Given the description of an element on the screen output the (x, y) to click on. 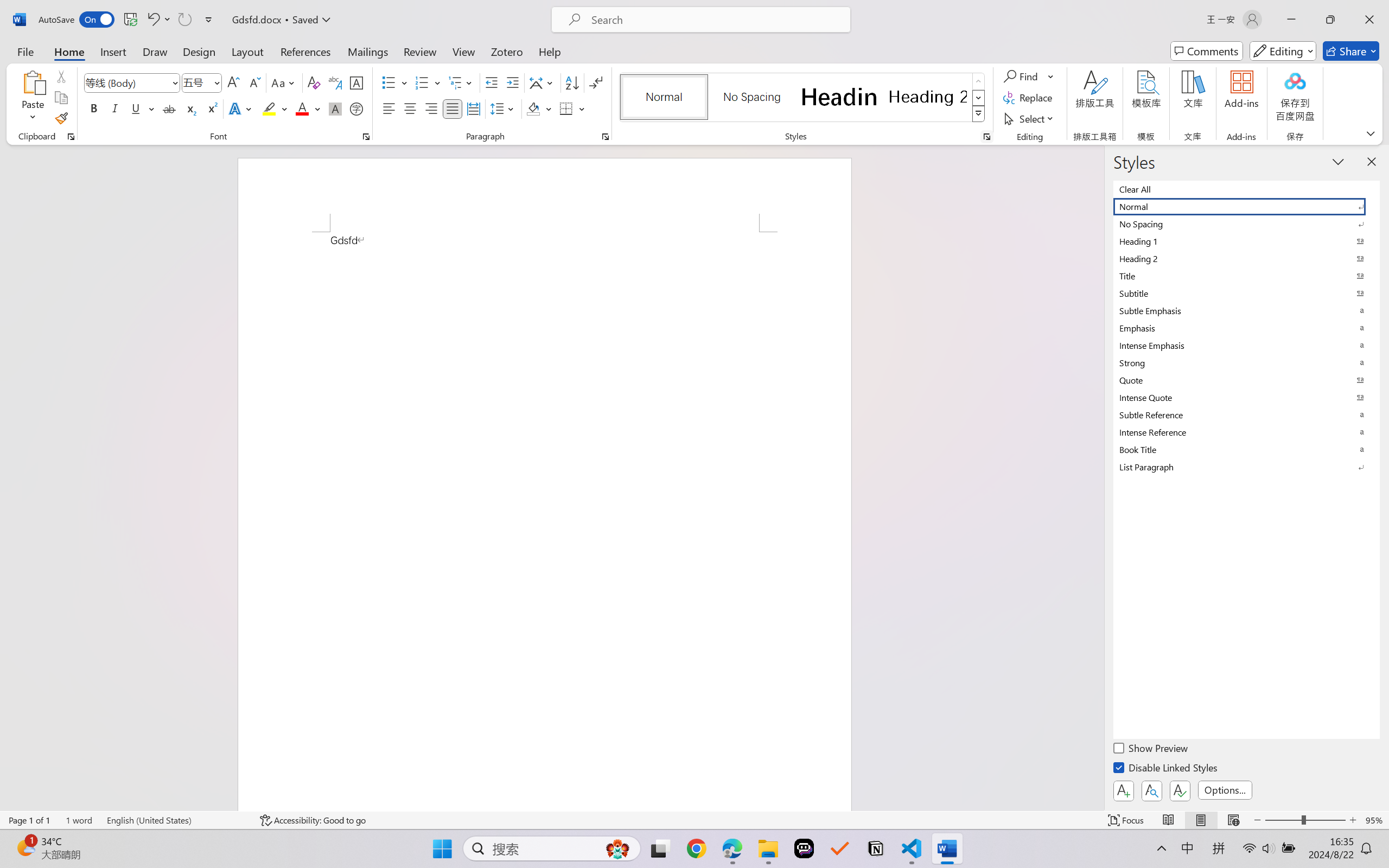
Shading (539, 108)
Font Color Red (302, 108)
Normal (1246, 206)
Subscript (190, 108)
Class: NetUIButton (1179, 790)
